Given the description of an element on the screen output the (x, y) to click on. 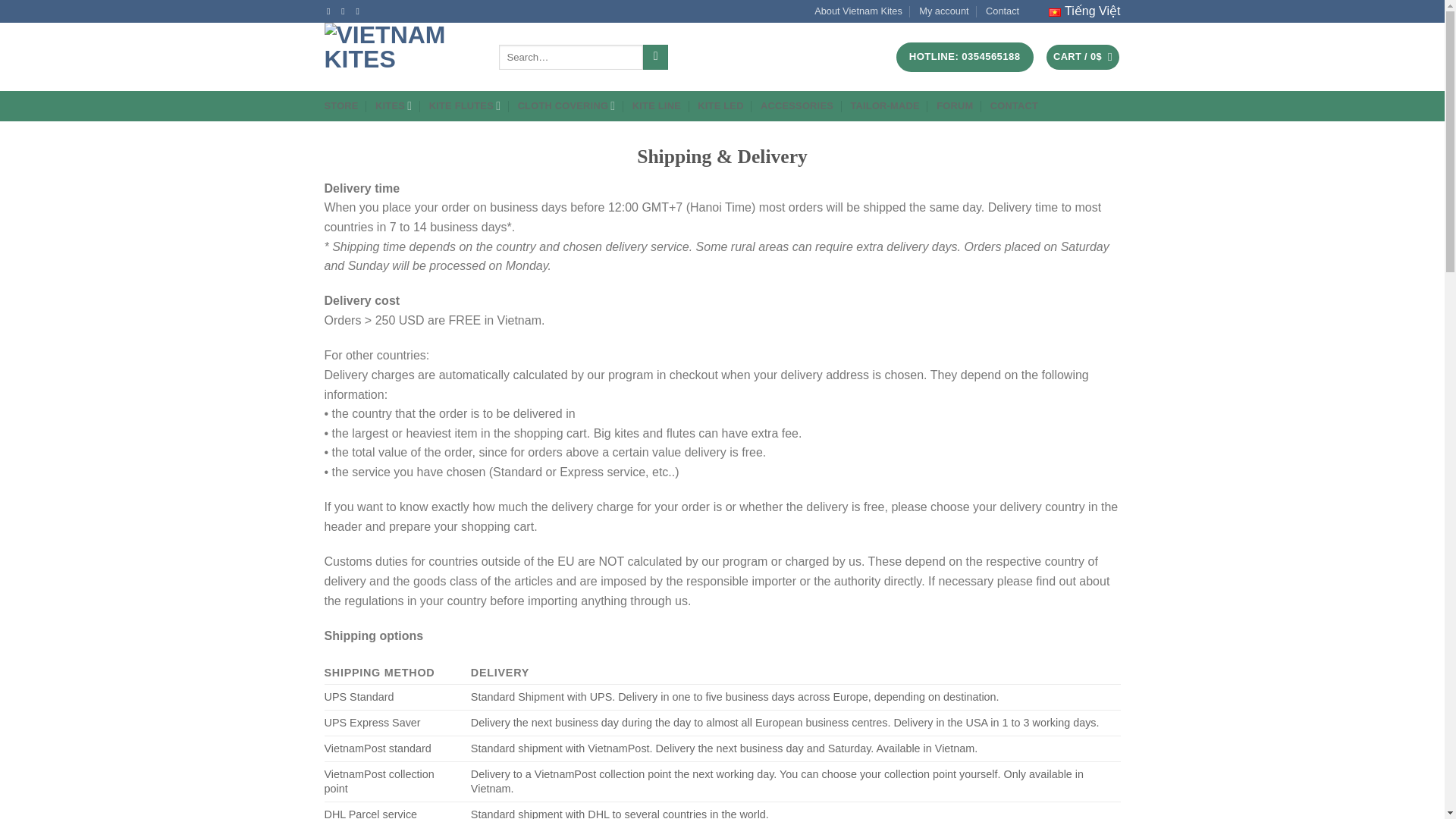
KITES (393, 105)
Search (655, 57)
About Vietnam Kites (857, 11)
STORE (341, 105)
KITE LED (719, 105)
HOTLINE: 0354565188 (965, 56)
KITE LINE (656, 105)
ACCESSORIES (796, 105)
TAILOR-MADE (884, 105)
Cart (1082, 57)
